Given the description of an element on the screen output the (x, y) to click on. 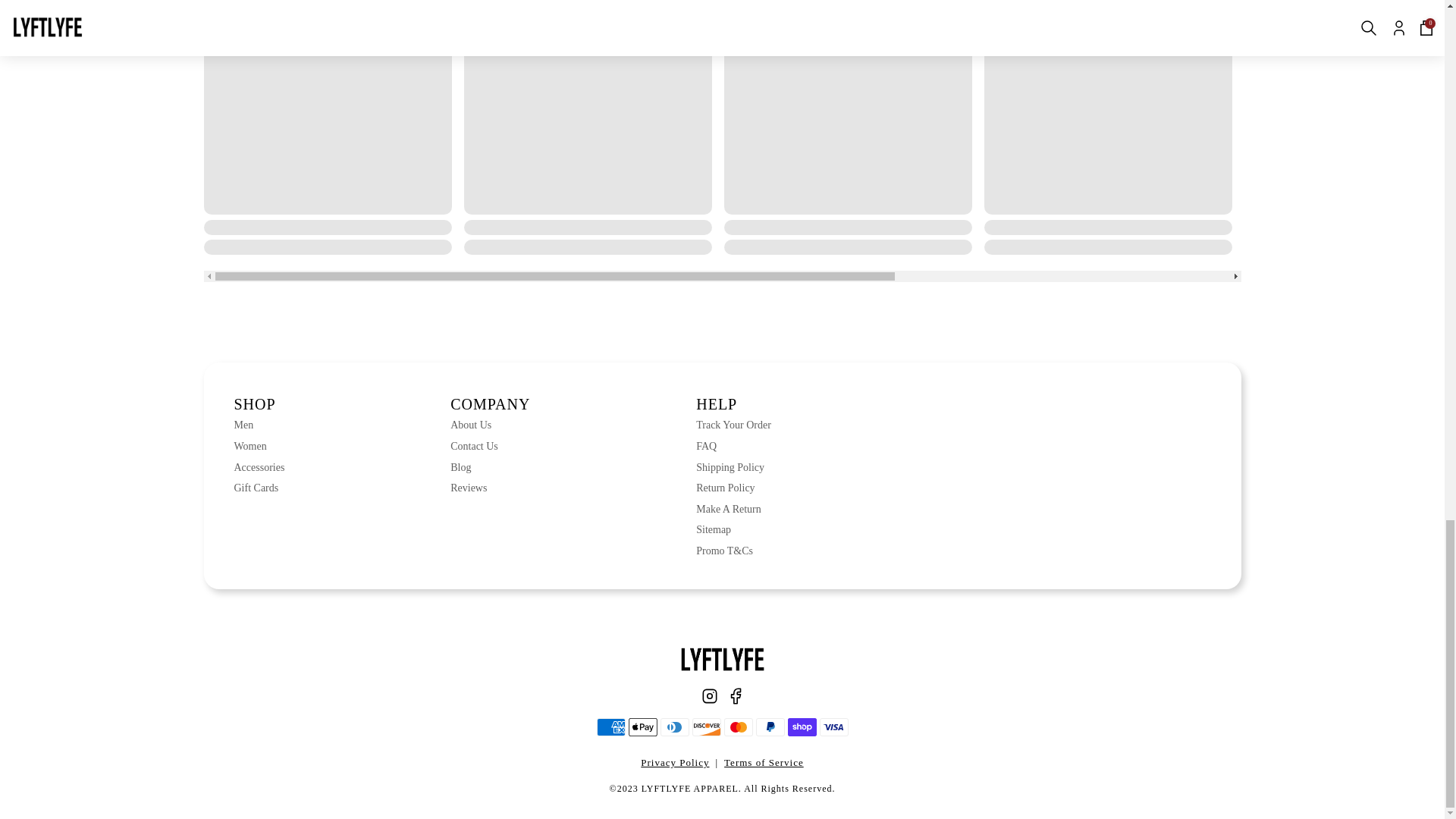
Make A Return (733, 509)
Blog (489, 467)
About Us (489, 425)
Sitemap (733, 529)
Accessories (257, 467)
Contact Us (489, 446)
Gift Cards (257, 488)
Reviews (489, 488)
FAQ (733, 446)
Shipping Policy (733, 467)
